Given the description of an element on the screen output the (x, y) to click on. 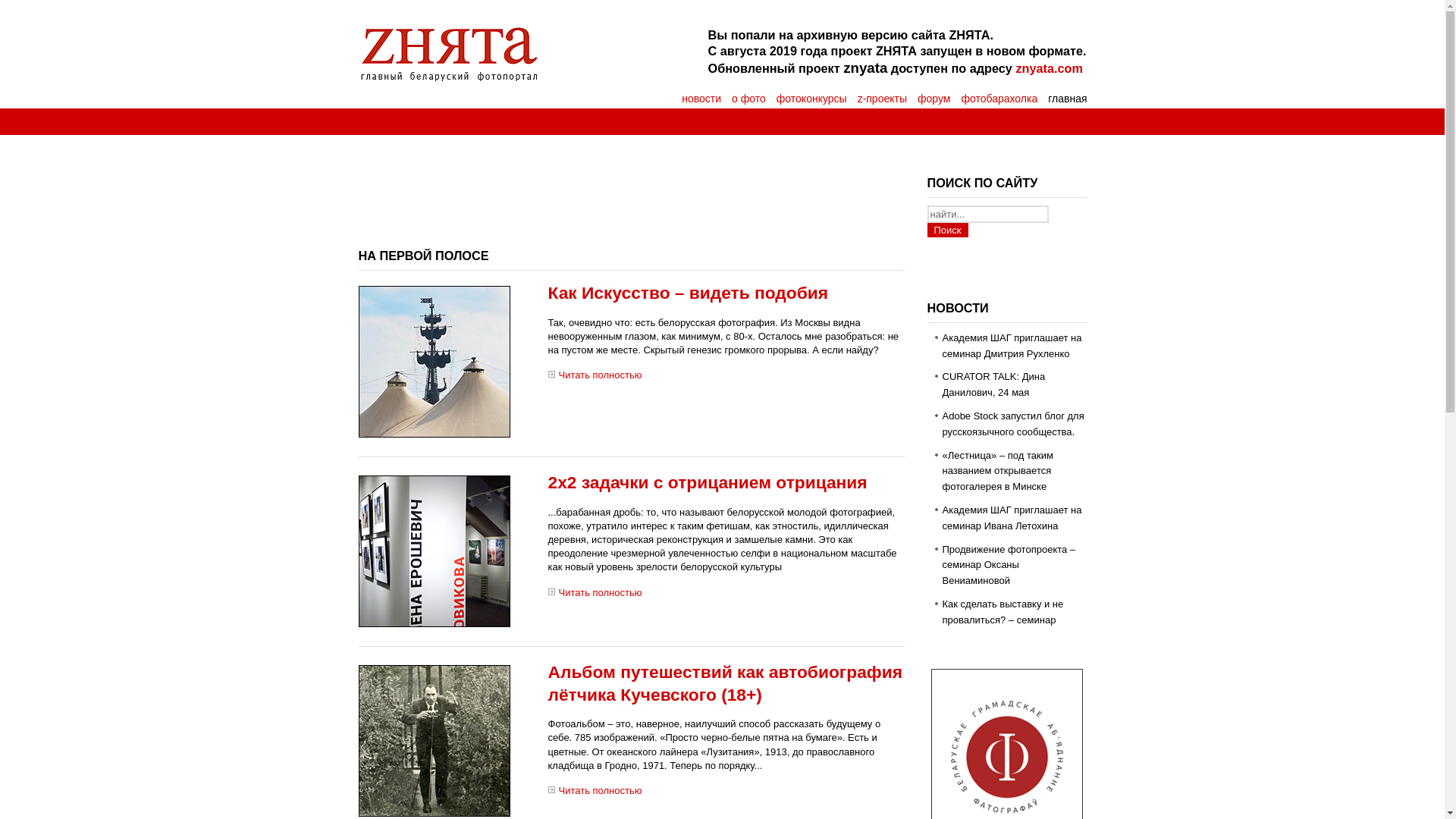
znyata.com Element type: text (1048, 68)
